Given the description of an element on the screen output the (x, y) to click on. 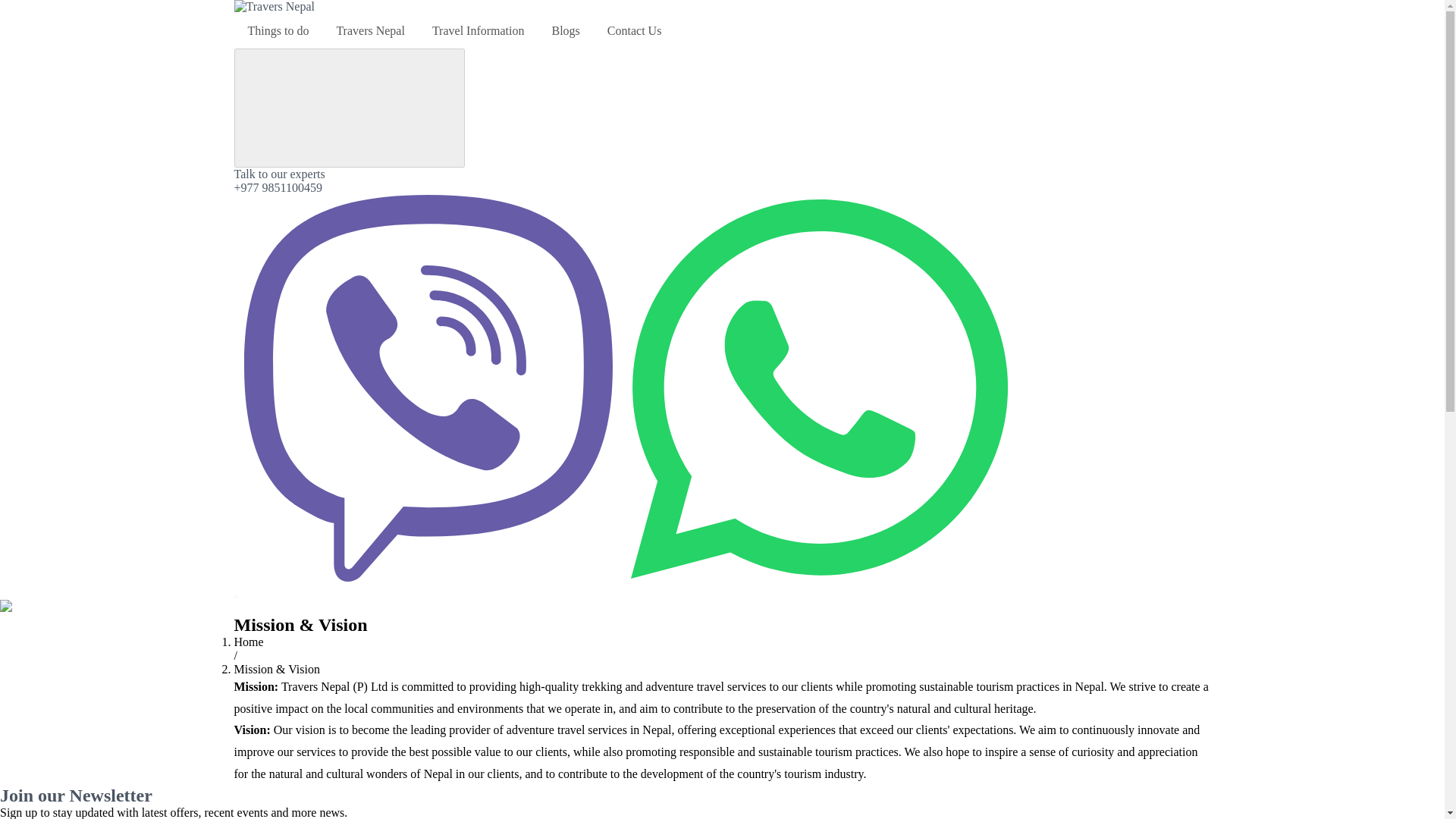
Things to do (276, 30)
Travers Nepal (370, 30)
